Given the description of an element on the screen output the (x, y) to click on. 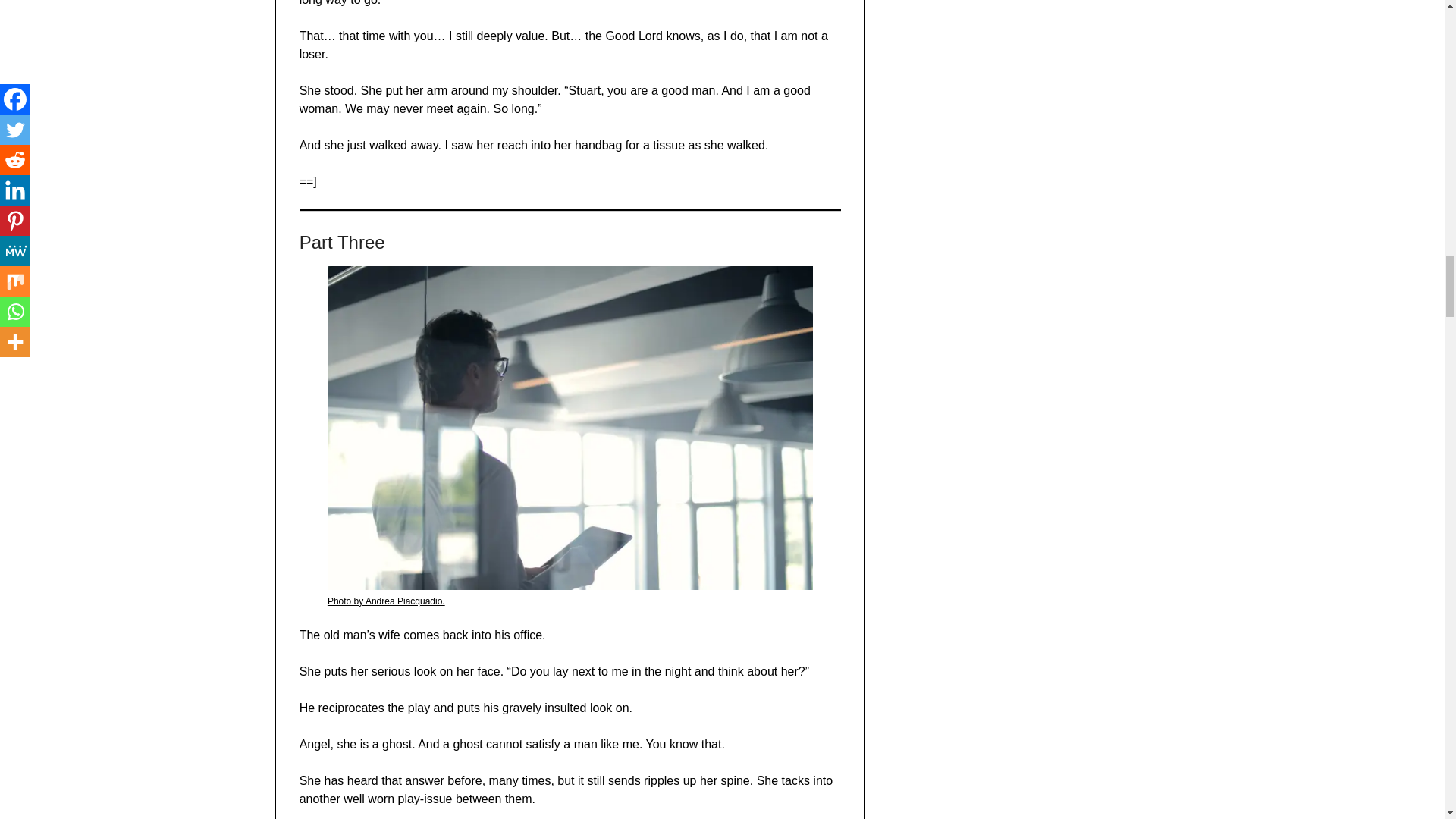
Photo by Andrea Piacquadio. (386, 601)
